Given the description of an element on the screen output the (x, y) to click on. 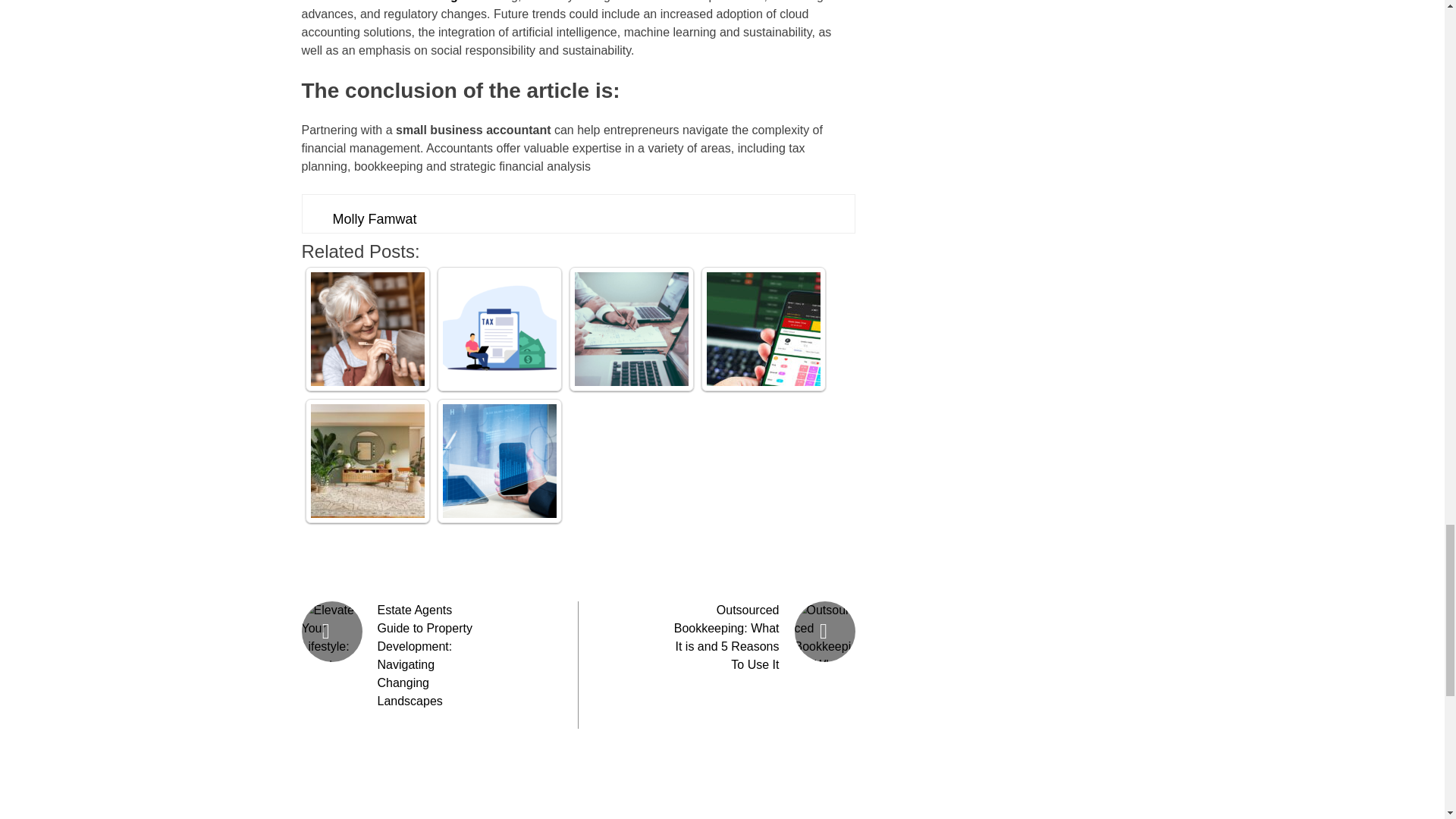
Molly Famwat (373, 218)
6 Relaxing Hobbies for Small Business Owners (368, 328)
Small business accounting (379, 1)
Outsourced Bookkeeping: What It is and 5 Reasons To Use It (726, 636)
Home Decor Ideas For Small Spaces (368, 460)
